Given the description of an element on the screen output the (x, y) to click on. 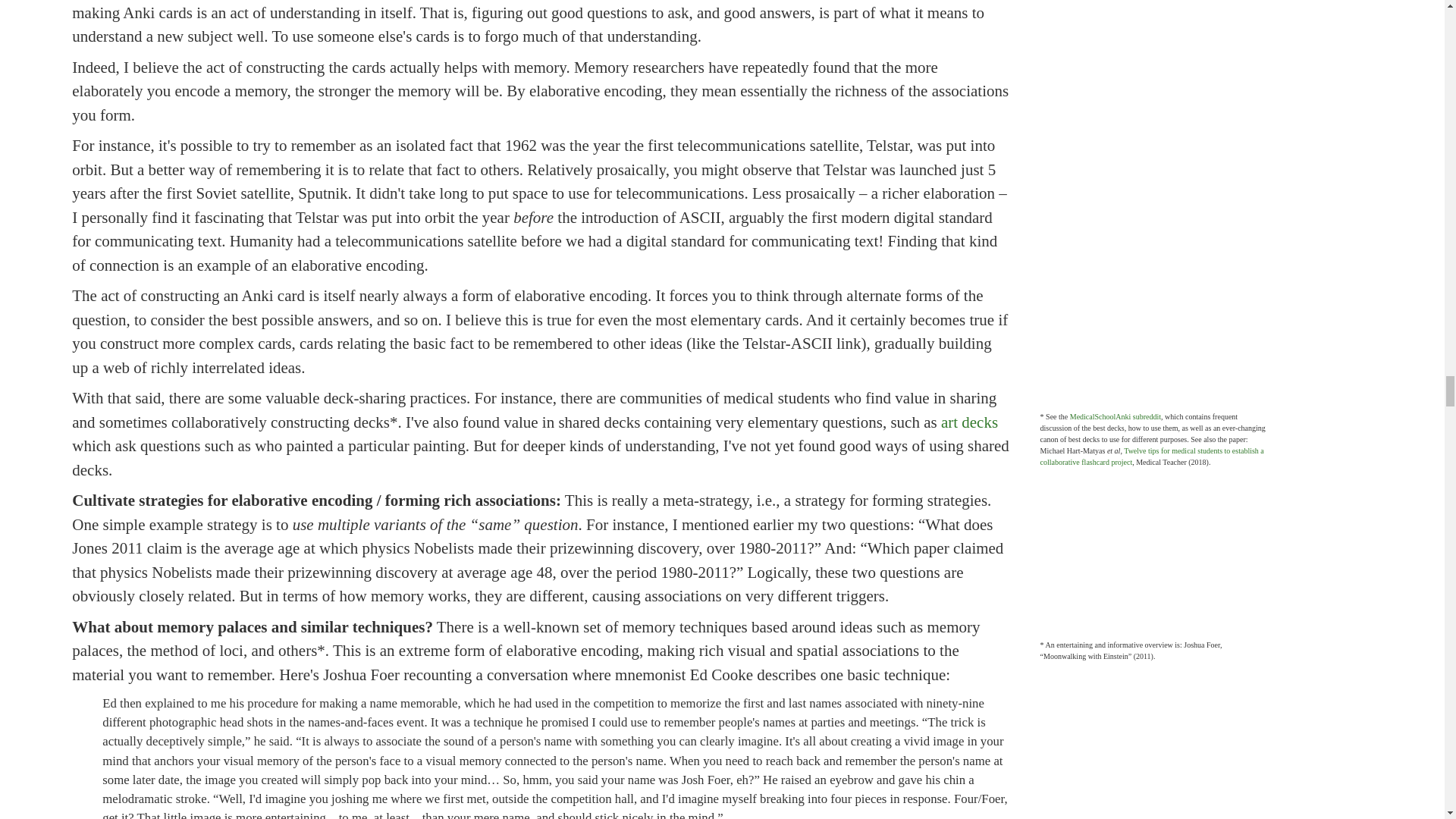
MedicalSchoolAnki subreddit (1115, 416)
